Given the description of an element on the screen output the (x, y) to click on. 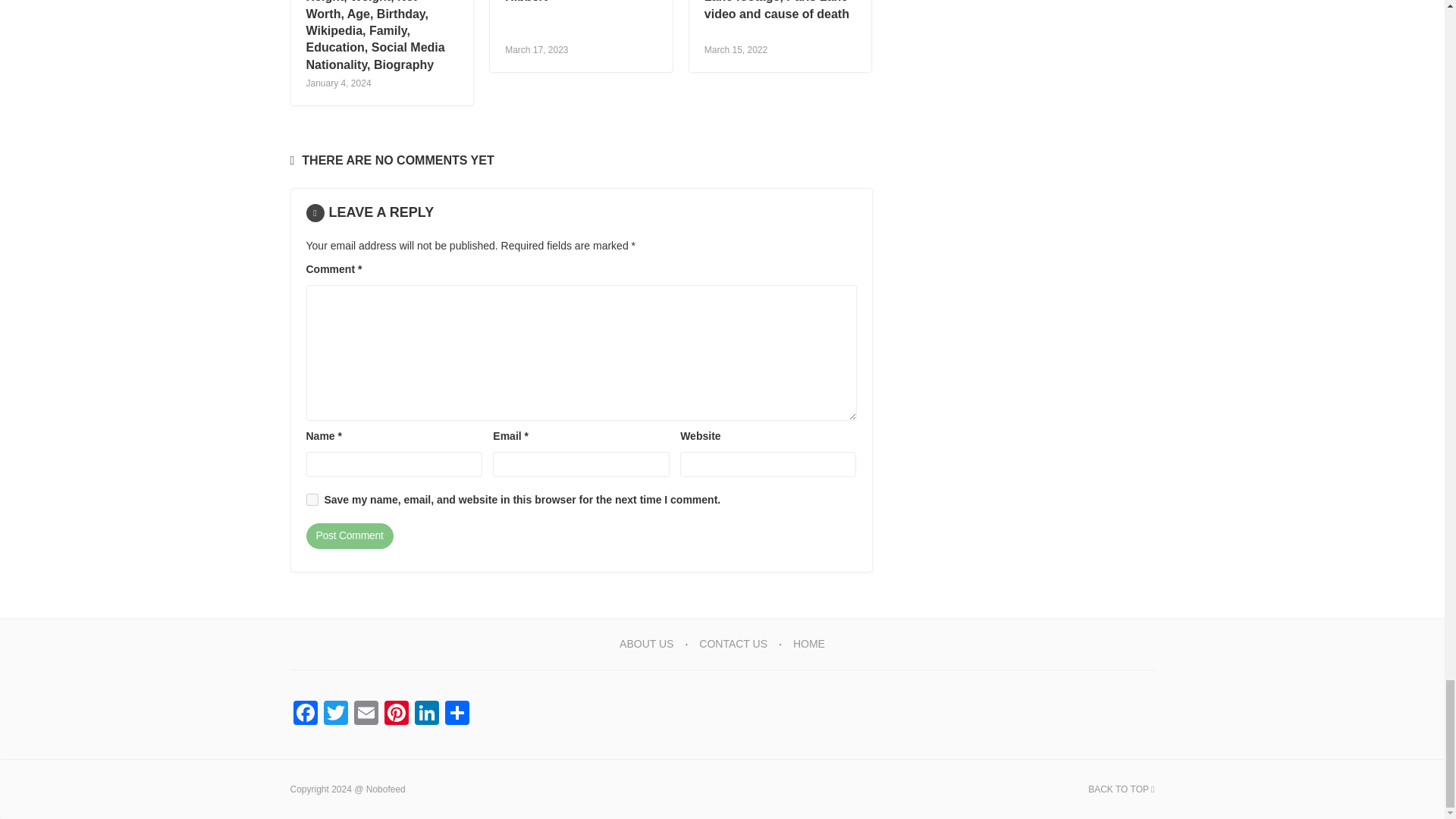
yes (311, 499)
BACK TO TOP  (1120, 789)
Post Comment (349, 535)
